Given the description of an element on the screen output the (x, y) to click on. 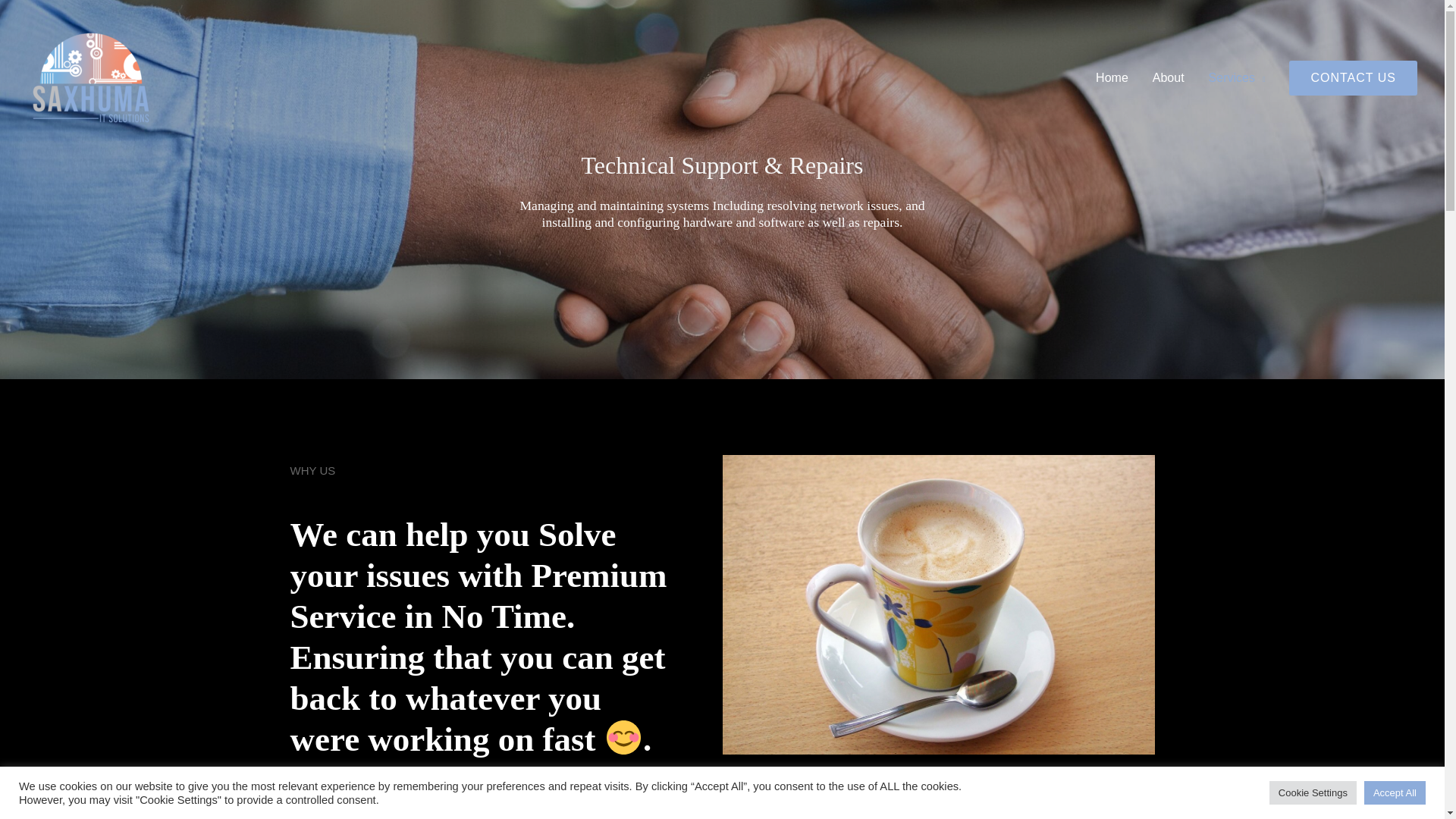
CONTACT US (1352, 77)
About (1168, 77)
Home (1111, 77)
I NEED HELP (938, 815)
Services (1237, 77)
